Given the description of an element on the screen output the (x, y) to click on. 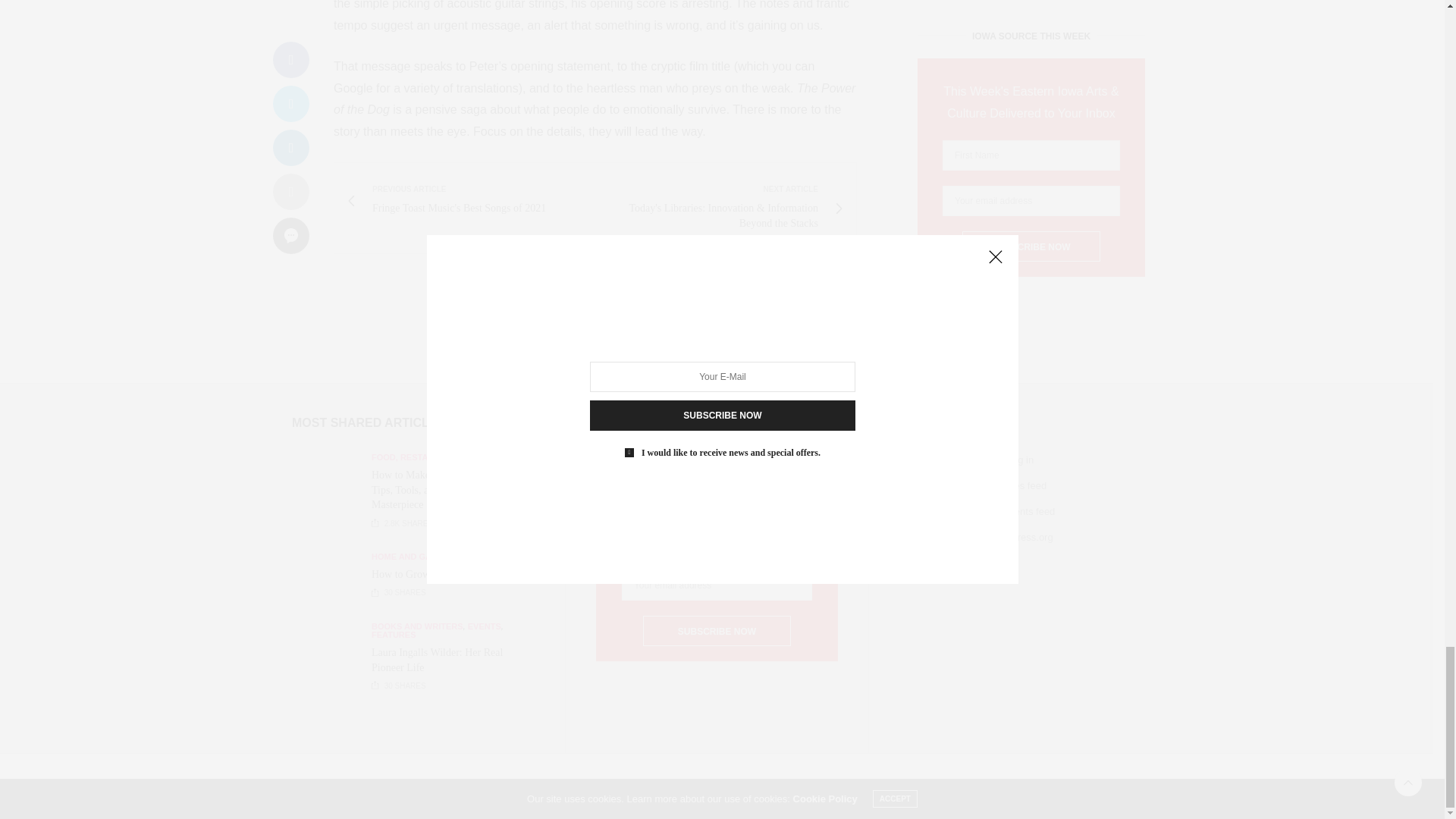
Laura Ingalls Wilder: Her Real Pioneer Life (469, 200)
Laura Ingalls Wilder: Her Real Pioneer Life (436, 660)
How to Grow Garlic in Iowa (331, 657)
How to Grow Garlic in Iowa (432, 573)
Subscribe Now (331, 576)
